Given the description of an element on the screen output the (x, y) to click on. 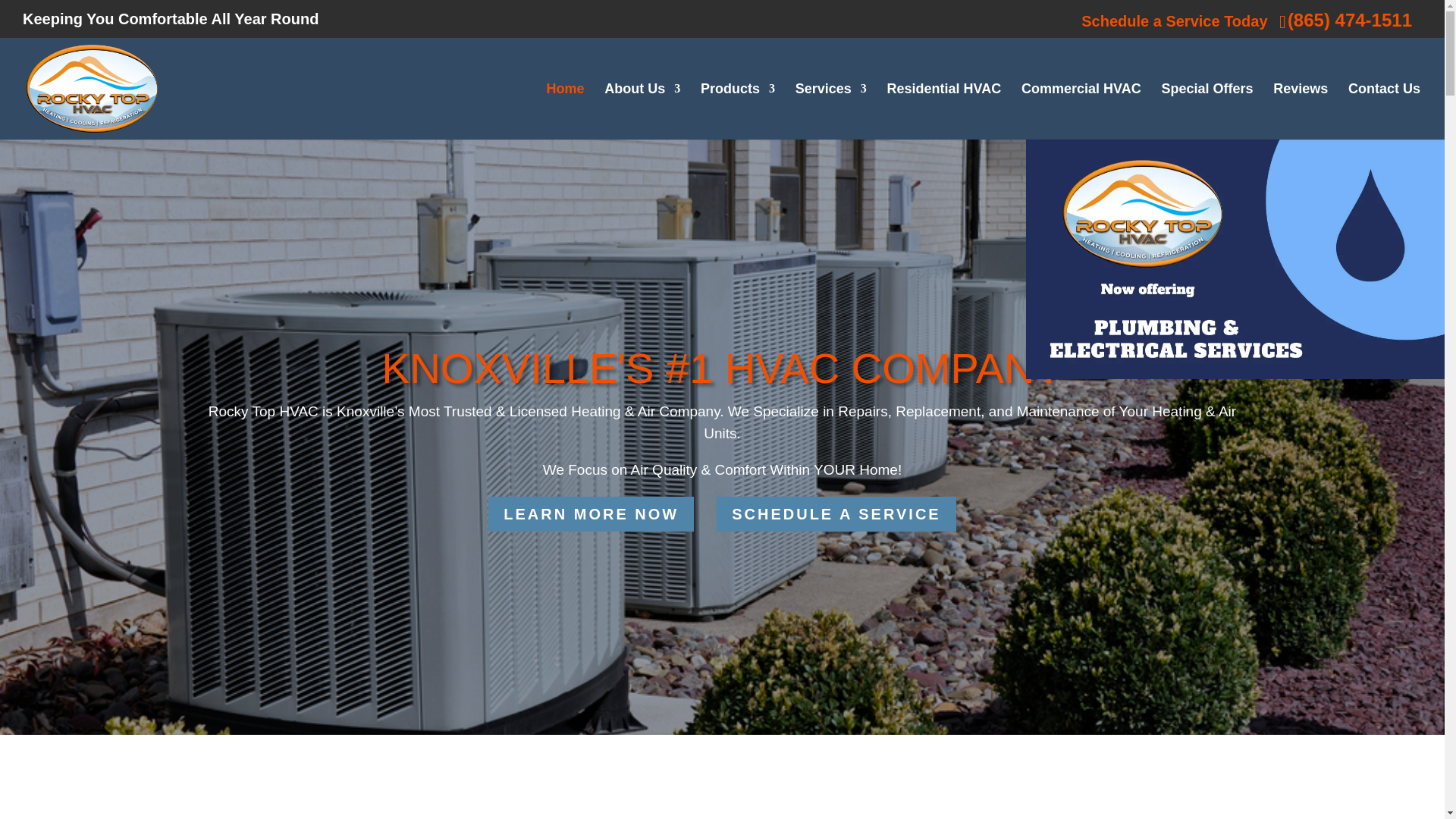
Contact Us (1384, 111)
Products (737, 111)
Special Offers (1206, 111)
About Us (641, 111)
Residential HVAC (943, 111)
Services (830, 111)
Reviews (1299, 111)
Schedule a Service Today (1173, 21)
Commercial HVAC (1081, 111)
